Given the description of an element on the screen output the (x, y) to click on. 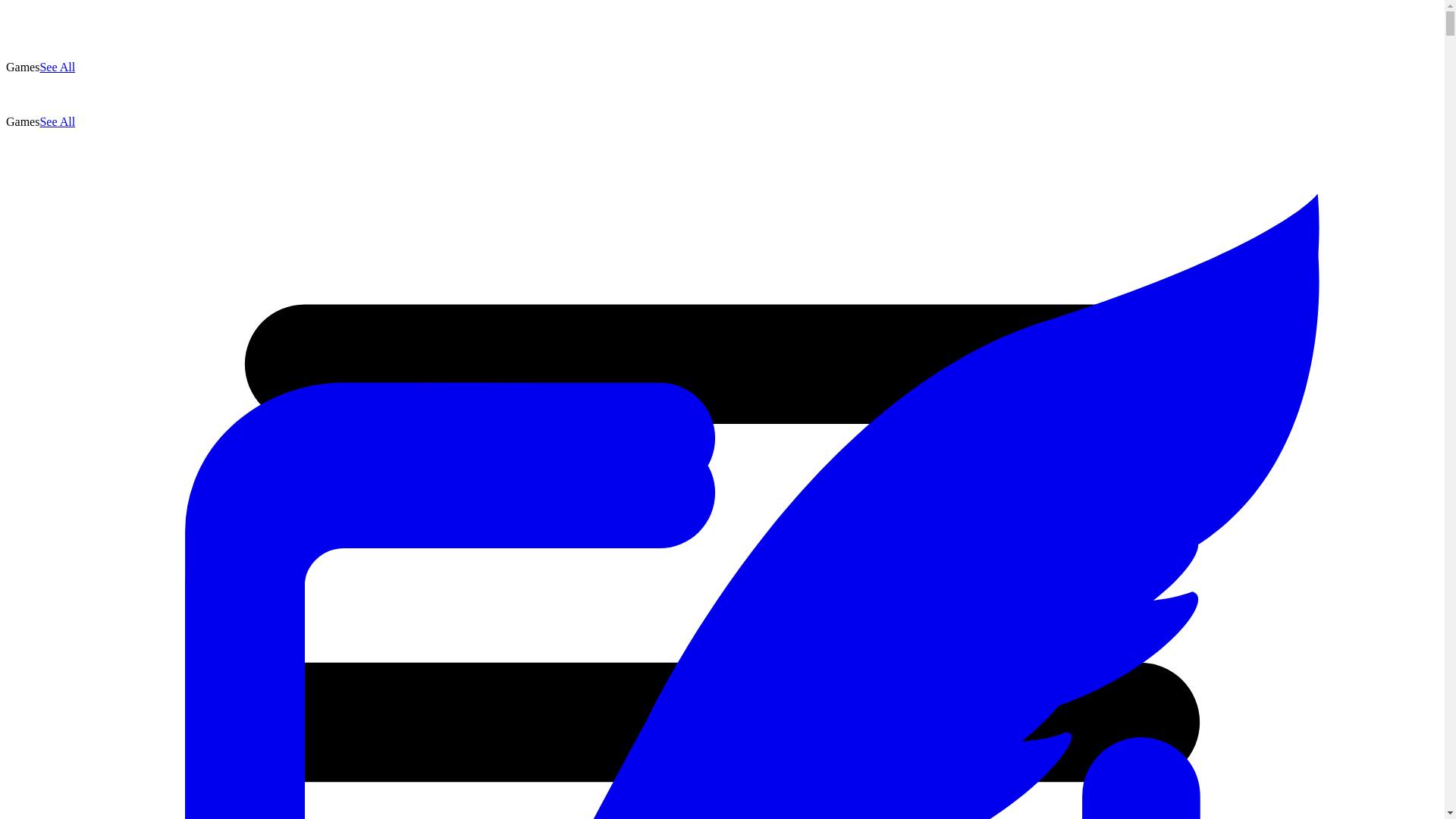
See All (57, 121)
See All (57, 66)
